Given the description of an element on the screen output the (x, y) to click on. 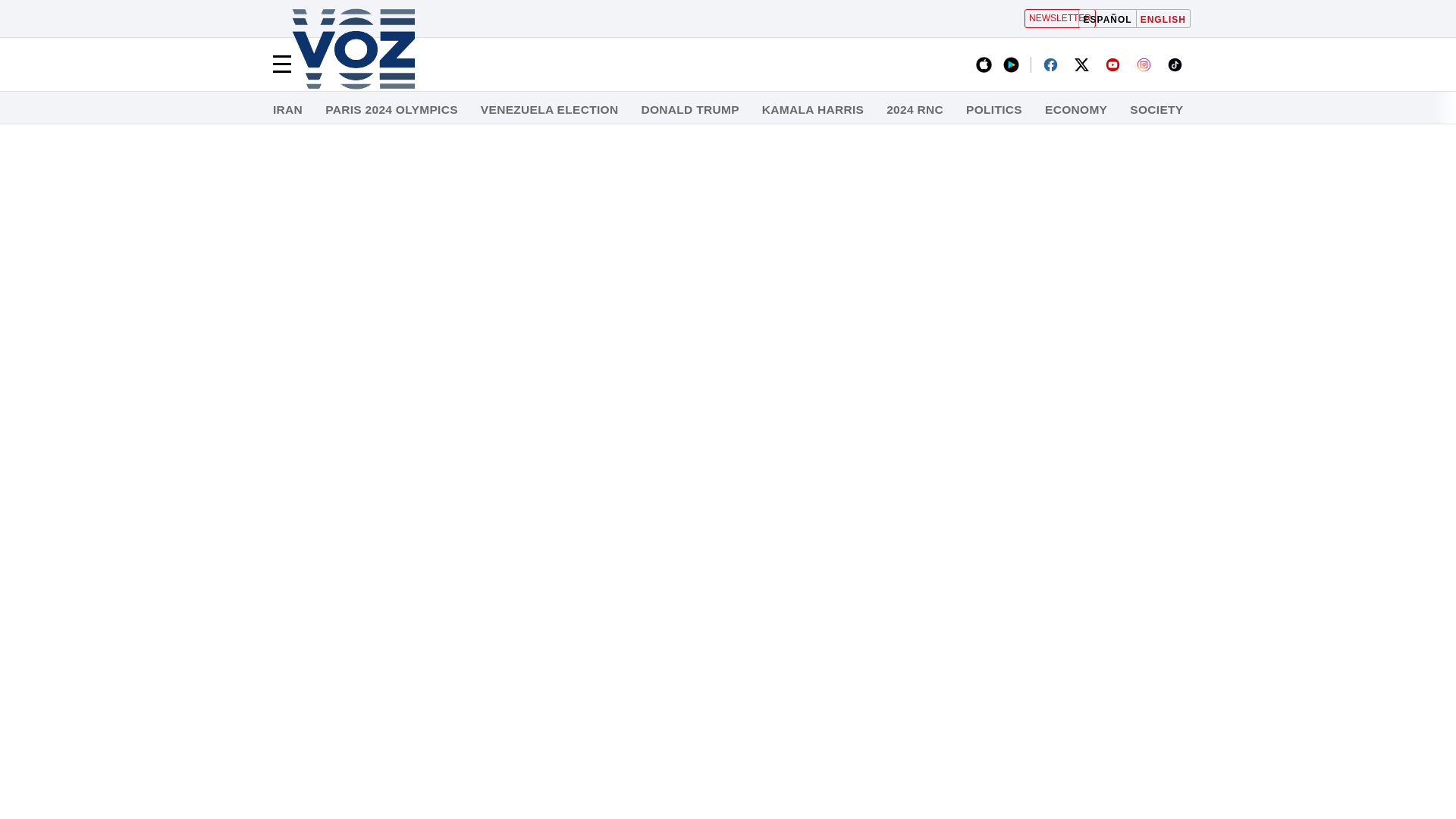
DONALD TRUMP (689, 110)
SPORTS (1372, 110)
2024 RNC (914, 110)
KAMALA HARRIS (812, 110)
Voz.us (353, 50)
2024 RNC (914, 110)
Paris 2024 Olympics (391, 110)
Economy (1075, 110)
Venezuela election (549, 110)
Donald Trump (689, 110)
